Given the description of an element on the screen output the (x, y) to click on. 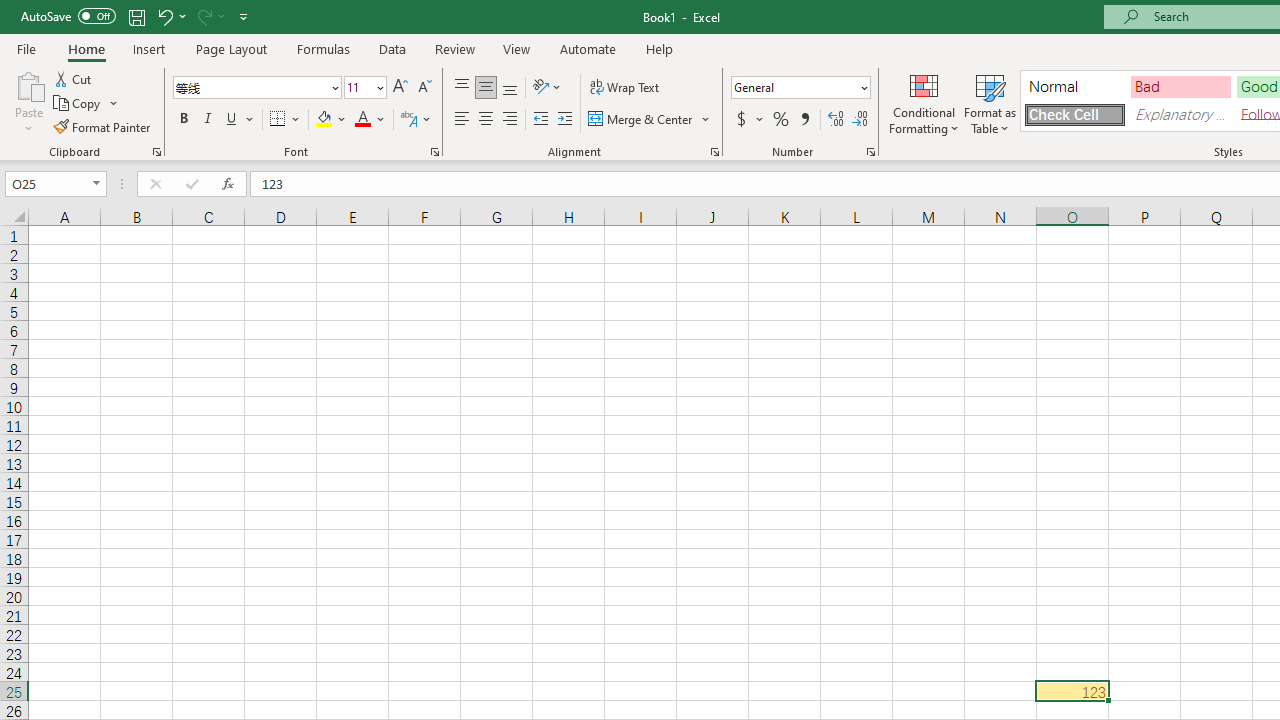
File Tab (26, 48)
System (10, 11)
Percent Style (781, 119)
More Options (760, 119)
Bad (1180, 86)
Align Left (461, 119)
Merge & Center (641, 119)
Redo (203, 15)
Increase Font Size (399, 87)
Cut (73, 78)
View (517, 48)
Save (136, 15)
Paste (28, 84)
Insert (149, 48)
Italic (207, 119)
